Given the description of an element on the screen output the (x, y) to click on. 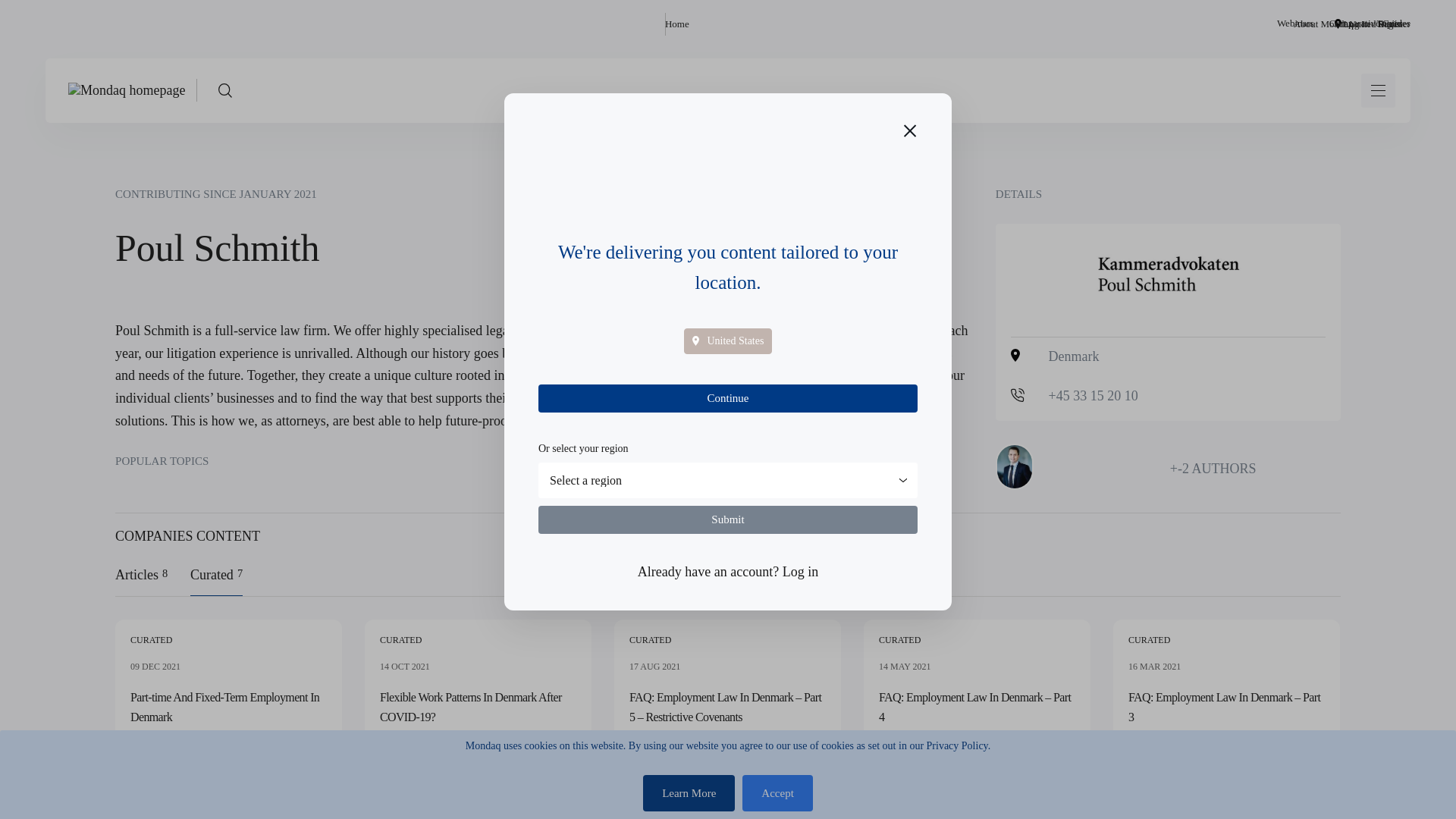
Webinars (1295, 23)
About Mondaq (1324, 24)
Comparative Guides (1369, 23)
Home (676, 24)
